Given the description of an element on the screen output the (x, y) to click on. 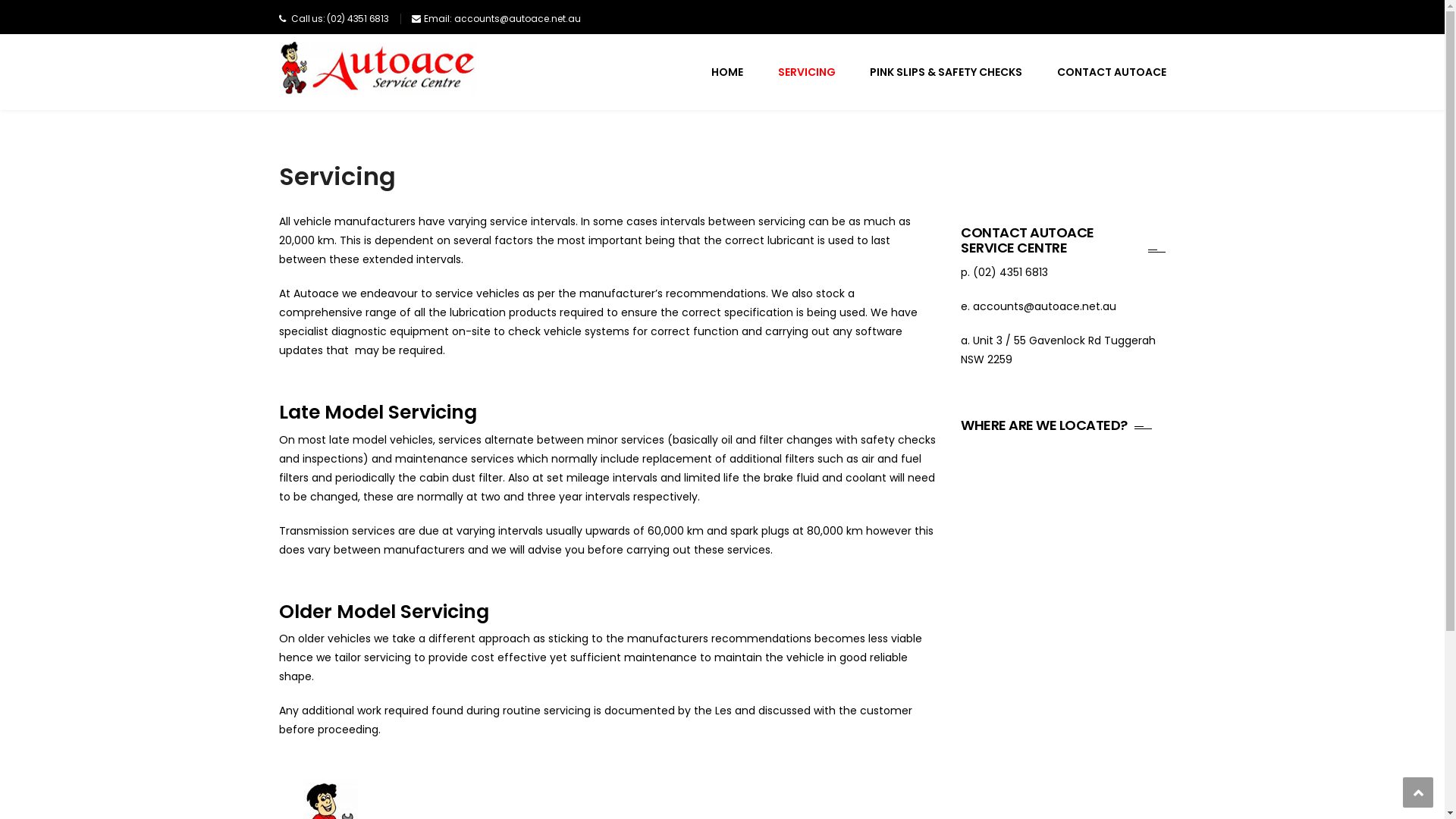
SERVICING Element type: text (806, 71)
(02) 4351 6813 Element type: text (1010, 271)
accounts@autoace.net.au Element type: text (1044, 305)
Search Element type: text (1144, 126)
HOME Element type: text (727, 71)
Autoace Tuggerah Element type: hover (377, 67)
Email: accounts@autoace.net.au Element type: text (501, 18)
PINK SLIPS & SAFETY CHECKS Element type: text (945, 71)
CONTACT AUTOACE Element type: text (1111, 71)
